Given the description of an element on the screen output the (x, y) to click on. 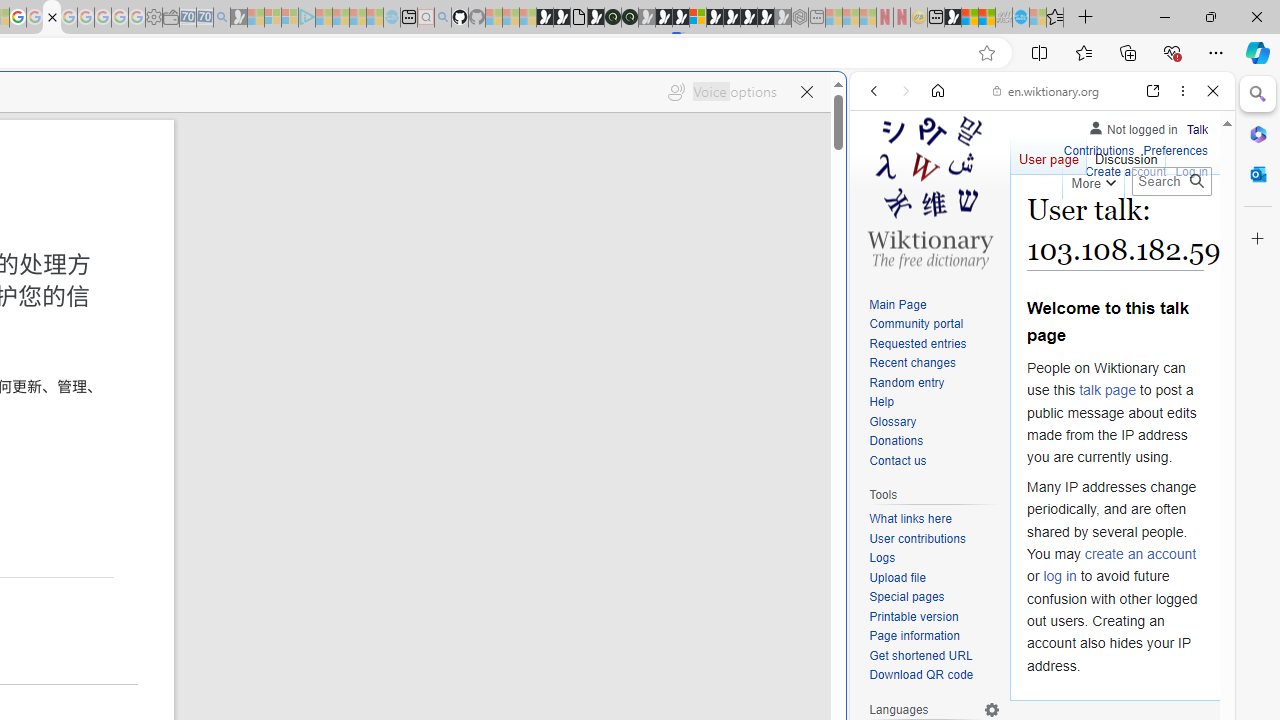
Tabs you've opened (276, 265)
Glossary (892, 421)
Services - Maintenance | Sky Blue Bikes - Sky Blue Bikes (1020, 17)
Donations (934, 442)
Special pages (906, 596)
